Given the description of an element on the screen output the (x, y) to click on. 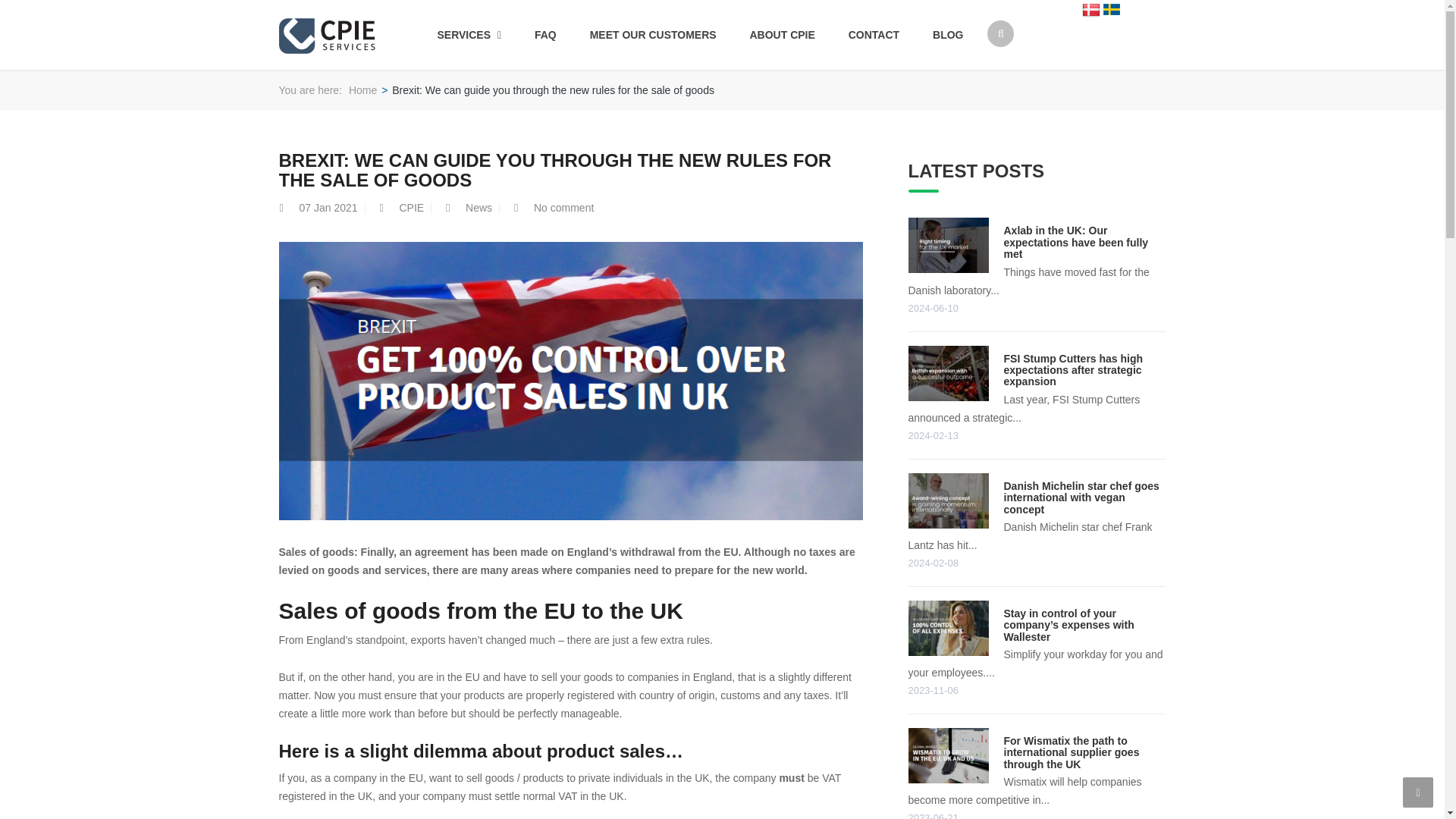
ABOUT CPIE (781, 34)
View all posts by CPIE (410, 207)
Search (993, 92)
CPIE services (328, 33)
News (478, 207)
Home (363, 90)
CPIE (410, 207)
CONTACT (873, 34)
SERVICES (469, 34)
CPIE services (363, 90)
MEET OUR CUSTOMERS (653, 34)
No comment (564, 207)
07 Jan 2021 (327, 207)
